Given the description of an element on the screen output the (x, y) to click on. 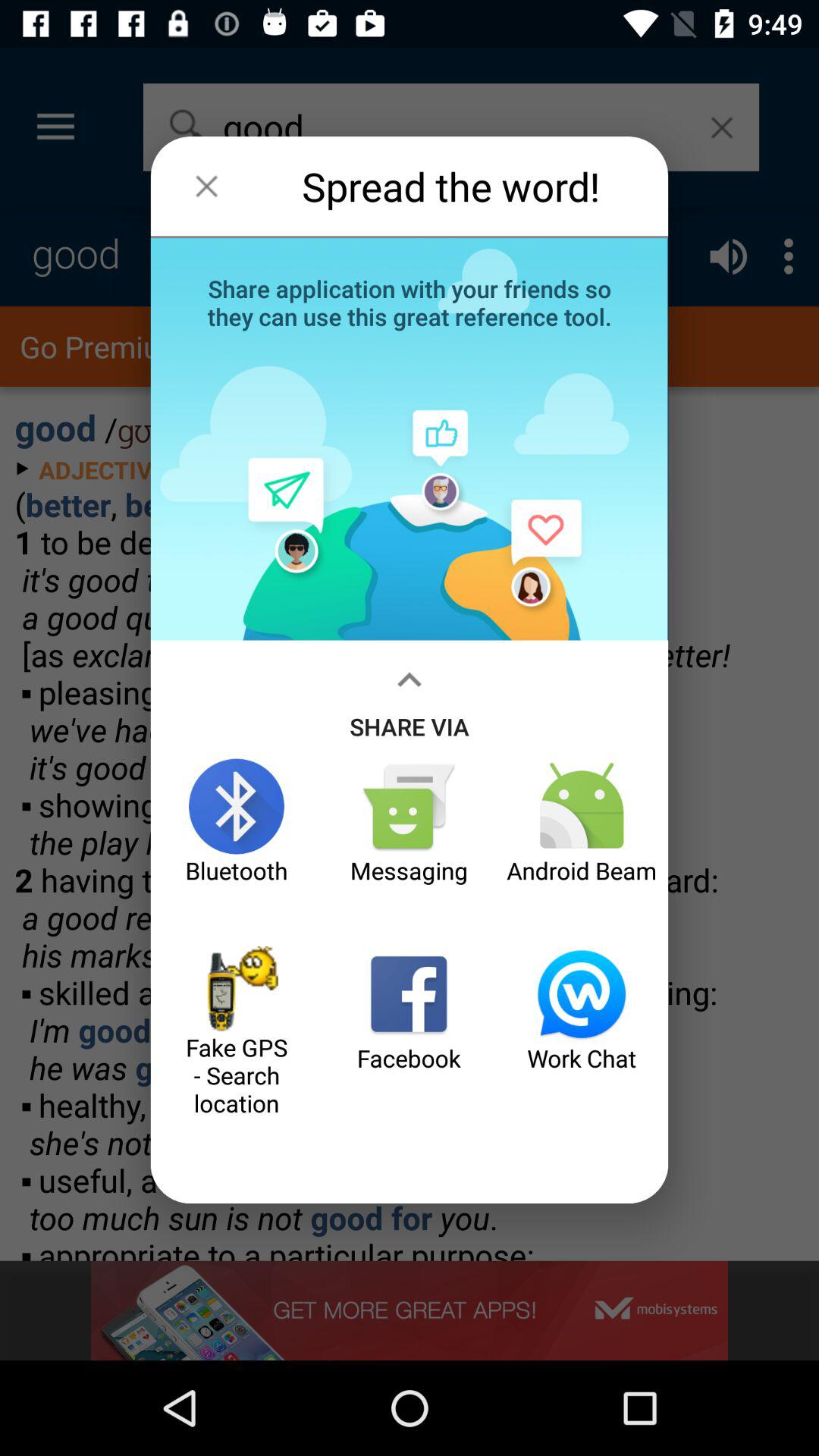
click the icon next to spread the word! item (206, 186)
